Given the description of an element on the screen output the (x, y) to click on. 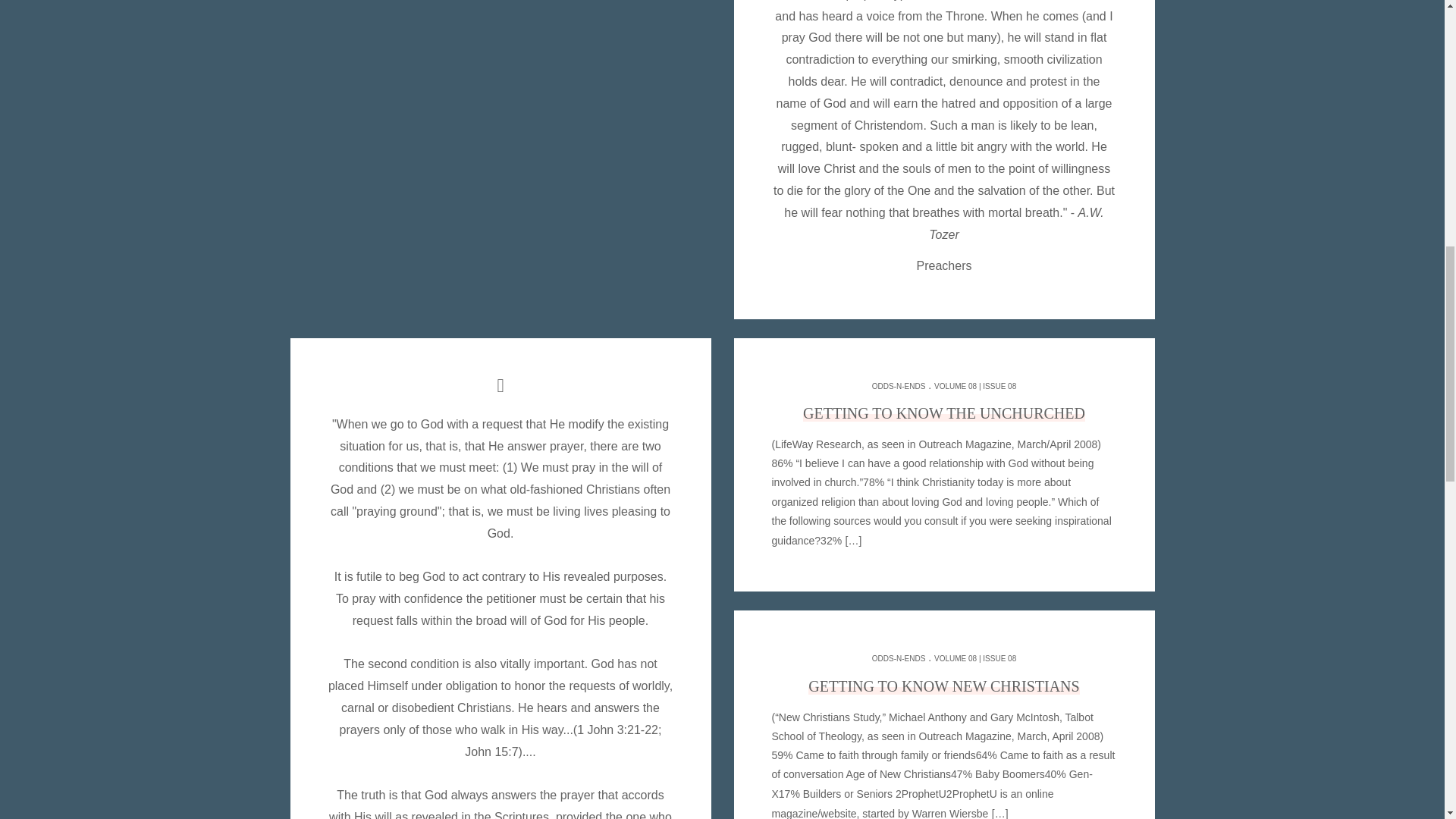
Read More (997, 812)
Read More (851, 540)
